Given the description of an element on the screen output the (x, y) to click on. 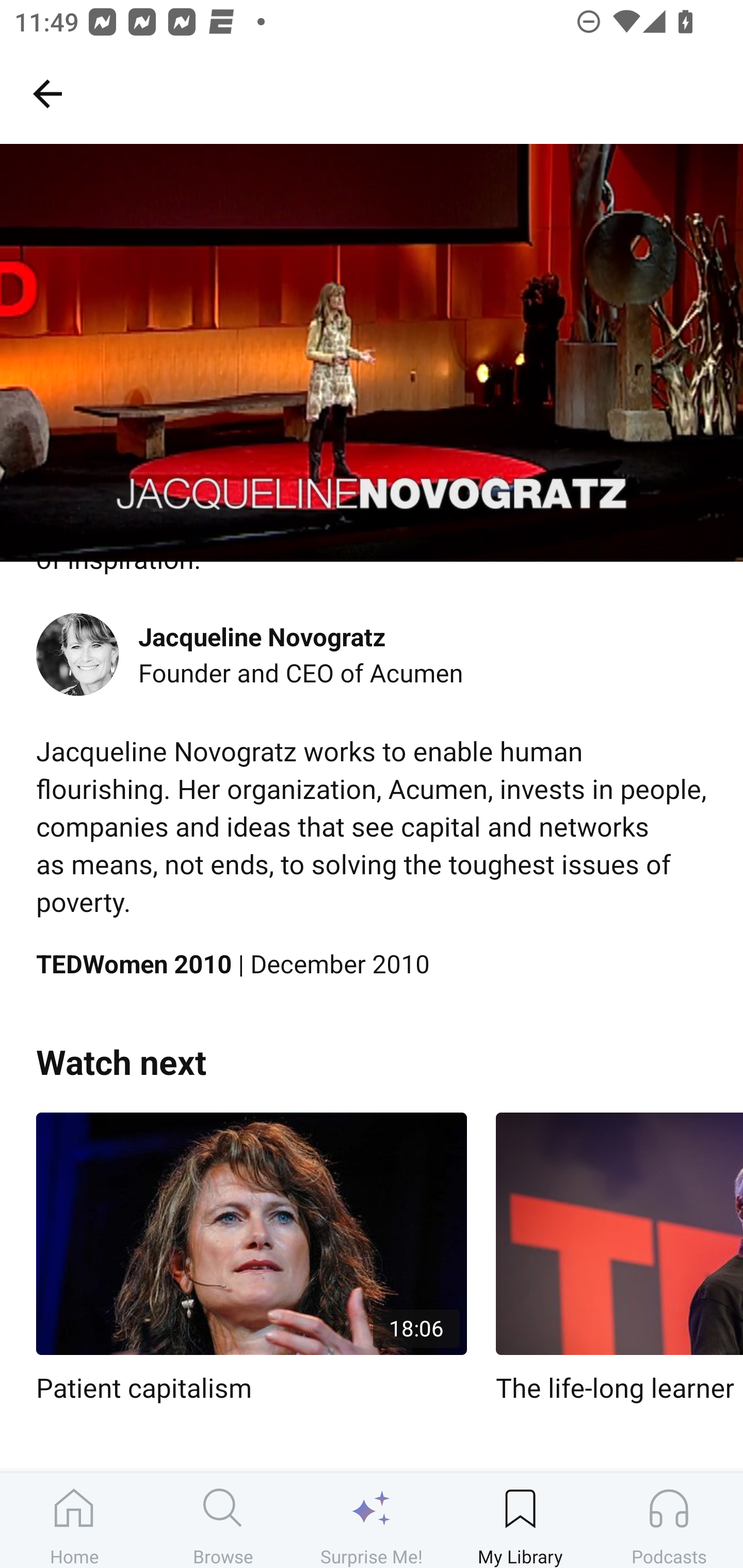
My Library, back (47, 92)
18:06 Patient capitalism (251, 1258)
Home (74, 1520)
Browse (222, 1520)
Surprise Me! (371, 1520)
My Library (519, 1520)
Podcasts (668, 1520)
